Given the description of an element on the screen output the (x, y) to click on. 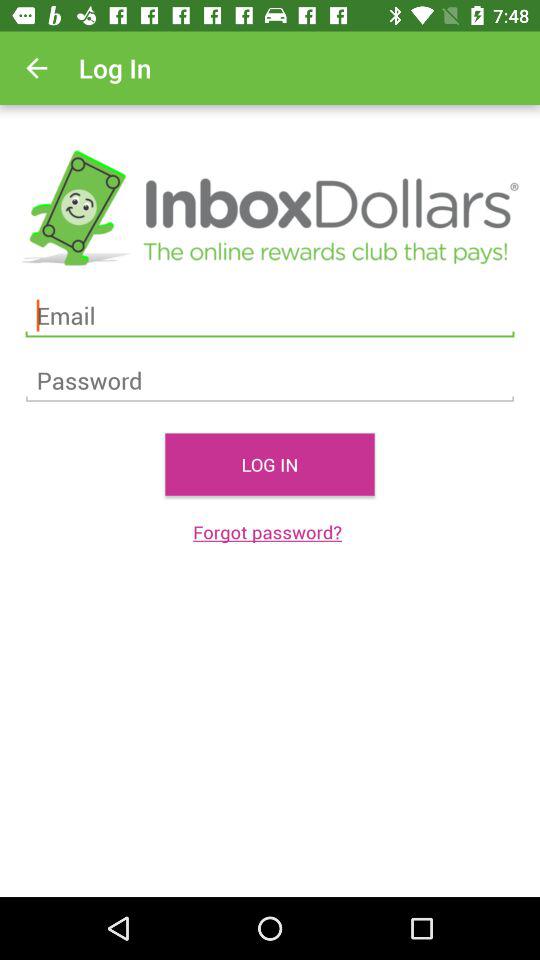
add email (270, 316)
